Given the description of an element on the screen output the (x, y) to click on. 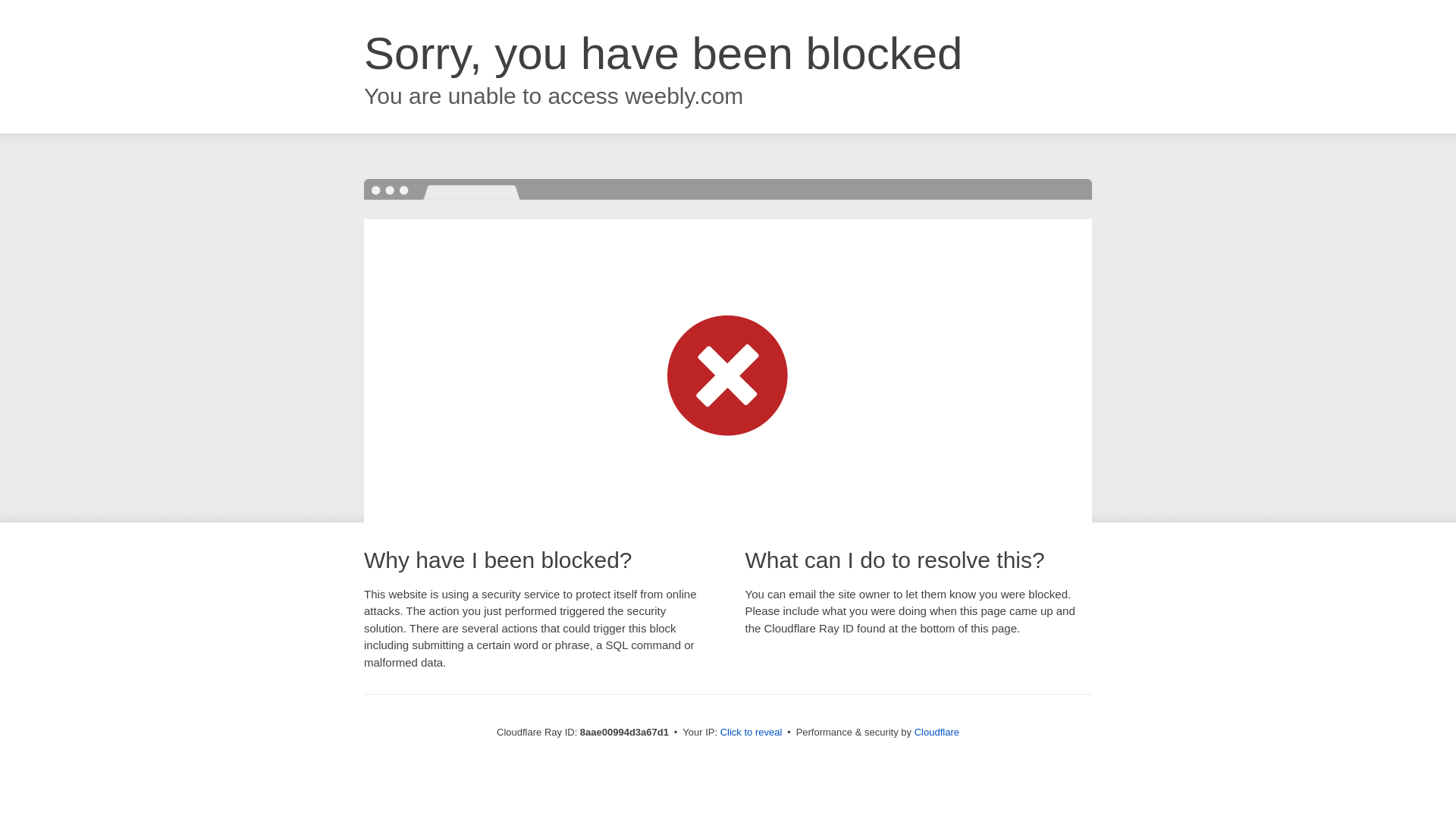
Cloudflare (936, 731)
Click to reveal (751, 732)
